Given the description of an element on the screen output the (x, y) to click on. 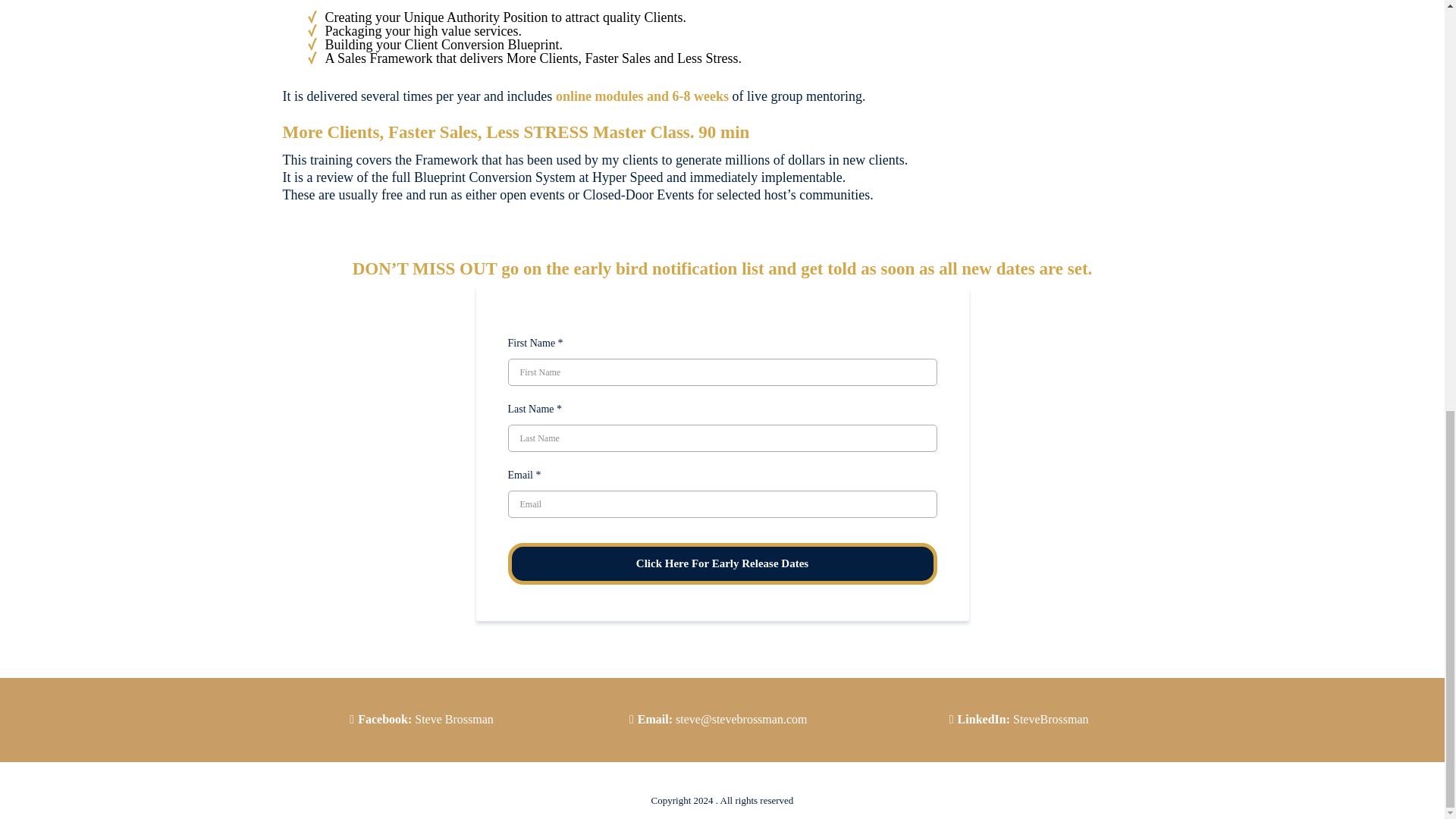
LinkedIn: SteveBrossman (1023, 718)
Click Here For Early Release Dates (722, 563)
Facebook: Steve Brossman (425, 718)
